Given the description of an element on the screen output the (x, y) to click on. 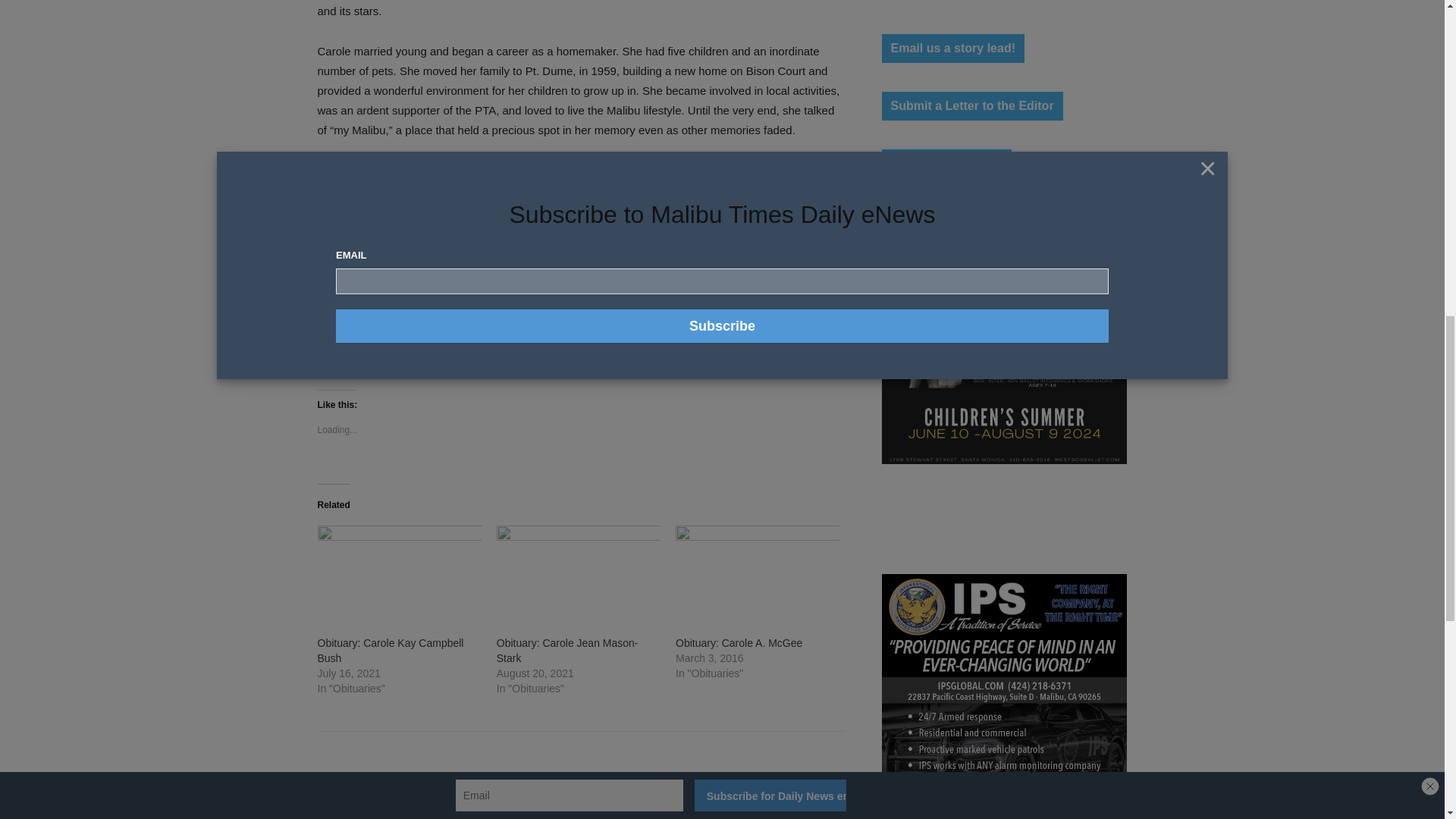
Click to share on Facebook (355, 359)
